Given the description of an element on the screen output the (x, y) to click on. 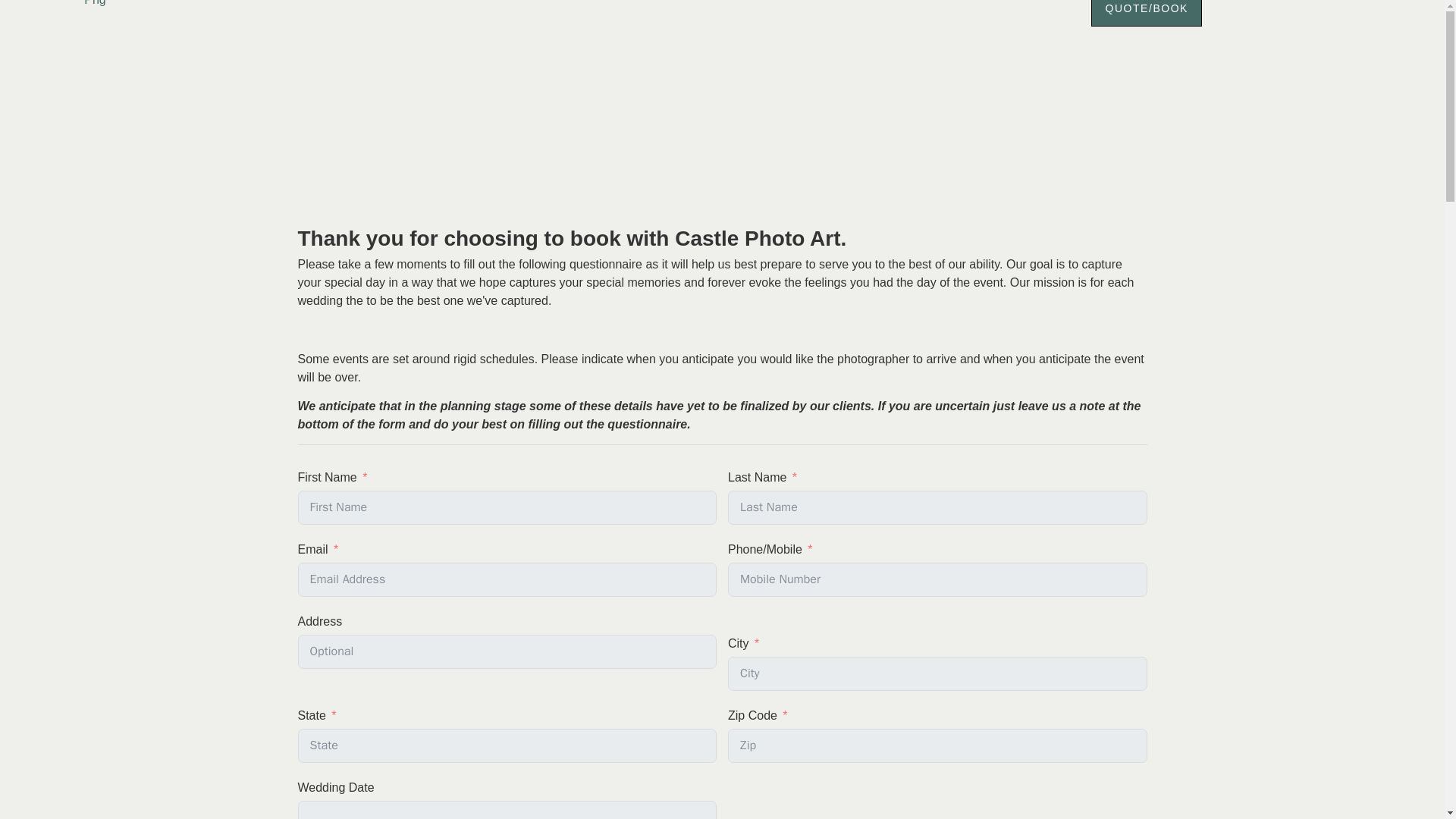
Wedding and Bridal (504, 4)
Meet the Artist (953, 4)
Event and Lifestyle (827, 4)
Logo-1 Png (110, 4)
Couples and Engagement (665, 4)
